Given the description of an element on the screen output the (x, y) to click on. 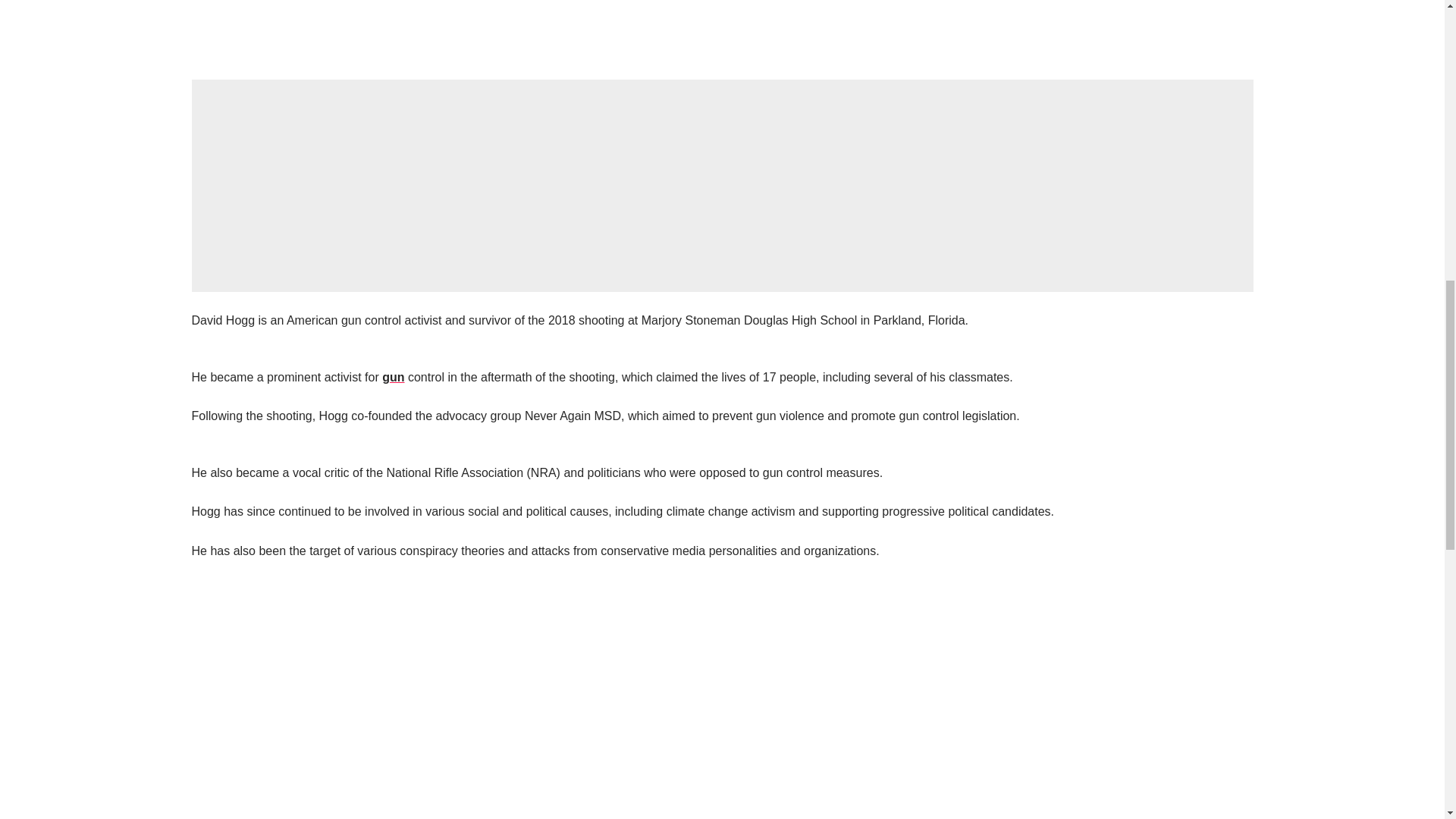
savedDavid Hogg (721, 24)
gun (392, 377)
Advertisement (721, 185)
